Given the description of an element on the screen output the (x, y) to click on. 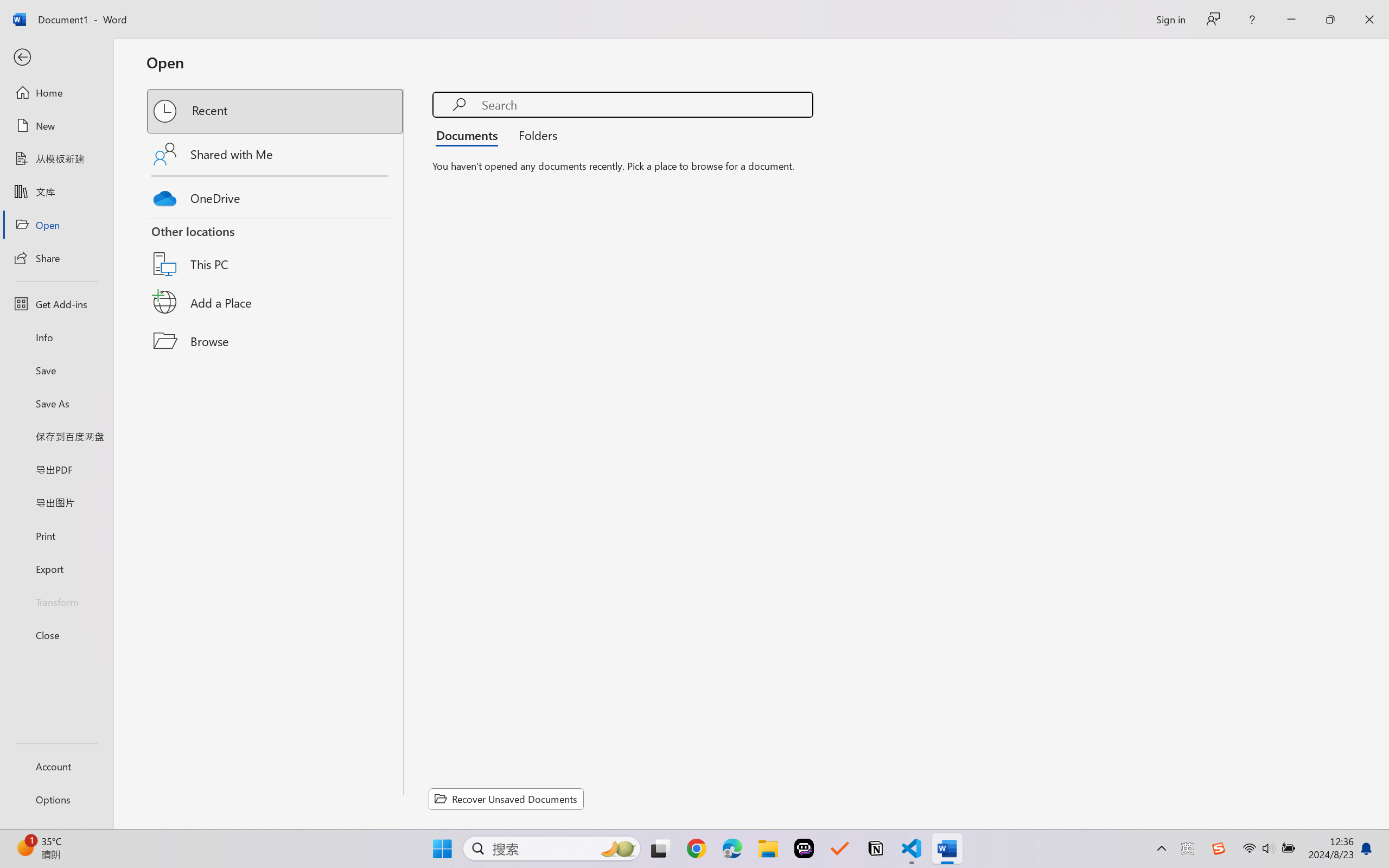
Recent (275, 110)
Account (56, 765)
Shared with Me (275, 153)
Options (56, 798)
Documents (469, 134)
Add a Place (275, 302)
